Given the description of an element on the screen output the (x, y) to click on. 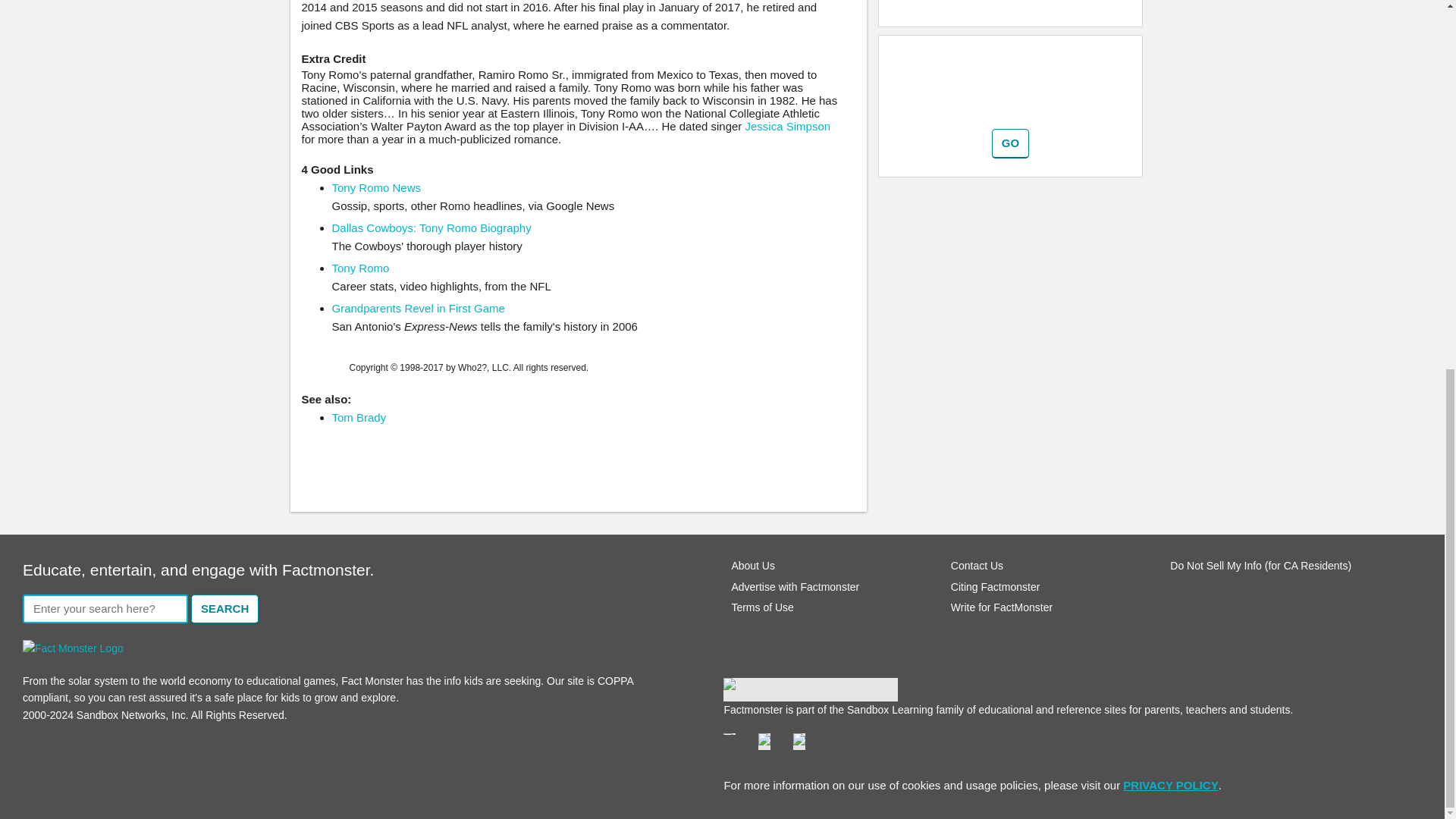
Go (1010, 143)
About Us (752, 565)
Go (1010, 143)
Search (224, 609)
